Given the description of an element on the screen output the (x, y) to click on. 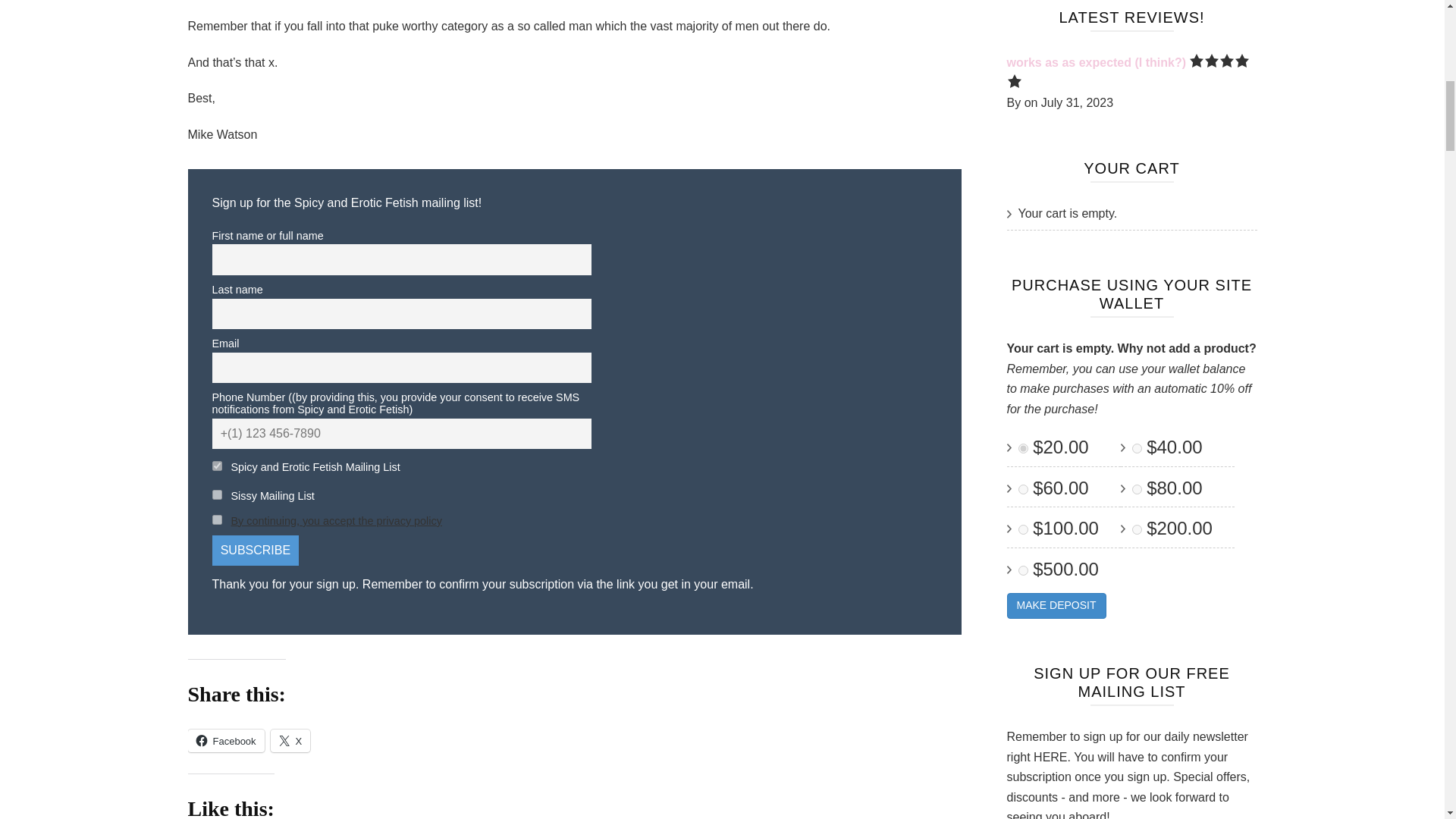
40 (1136, 448)
Click to share on Facebook (225, 740)
80 (1136, 489)
100 (1022, 529)
500 (1022, 570)
on (217, 519)
11 (217, 494)
60 (1022, 489)
Subscribe (255, 550)
Click to share on X (290, 740)
